Given the description of an element on the screen output the (x, y) to click on. 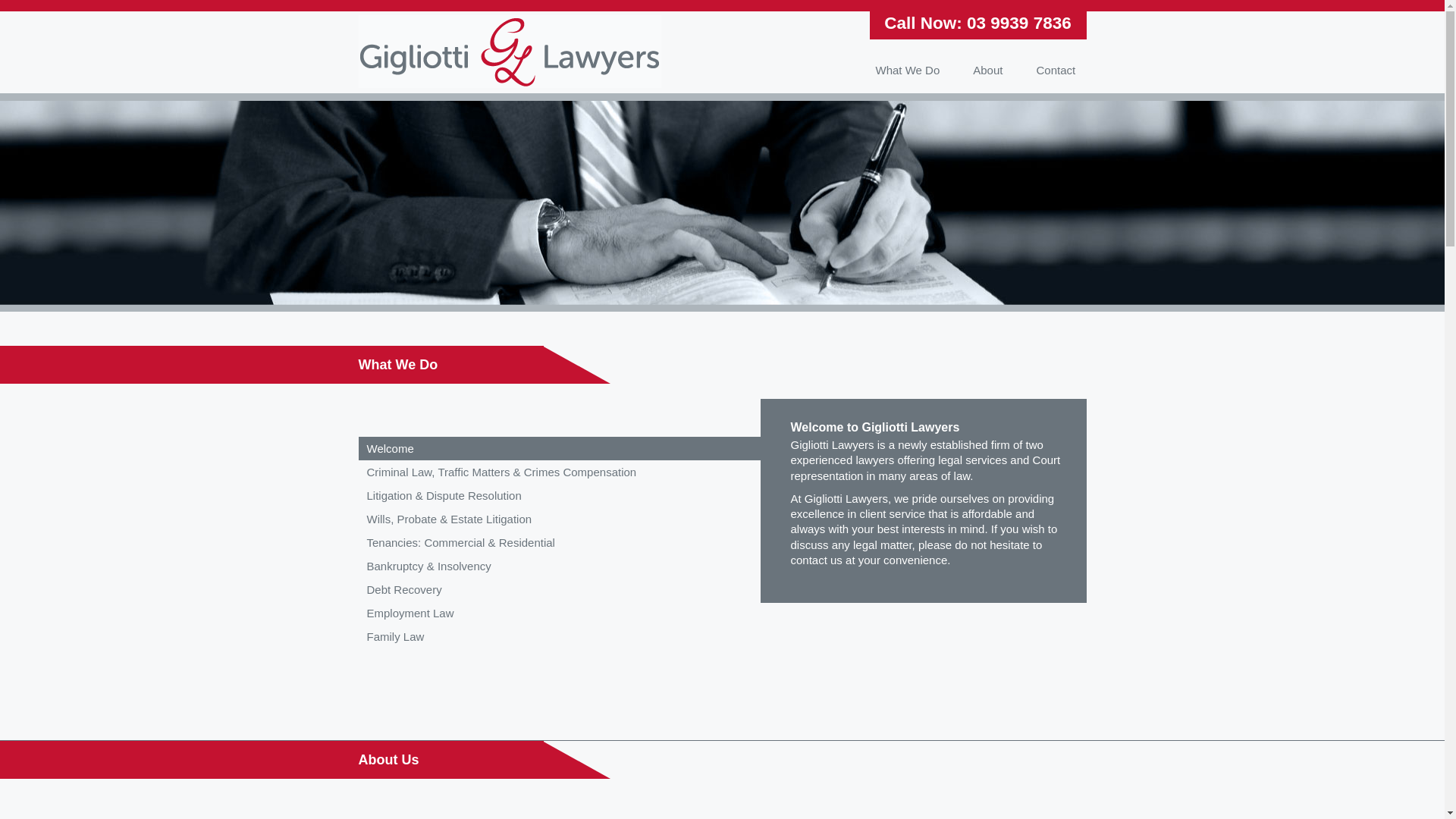
About Element type: text (987, 69)
Contact Element type: text (1055, 69)
What We Do Element type: text (907, 69)
About Us Element type: text (387, 759)
What We Do Element type: text (397, 364)
